Given the description of an element on the screen output the (x, y) to click on. 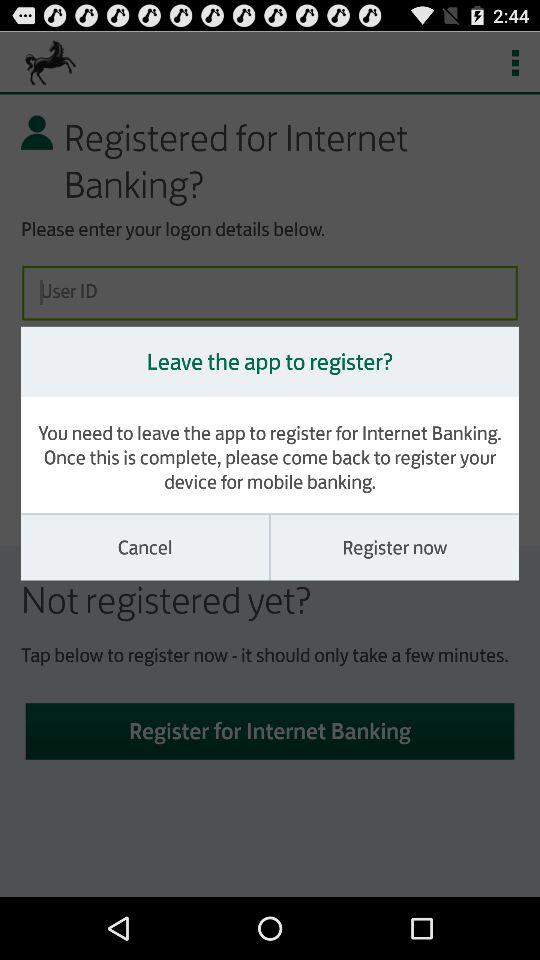
turn on the icon on the right (394, 547)
